Given the description of an element on the screen output the (x, y) to click on. 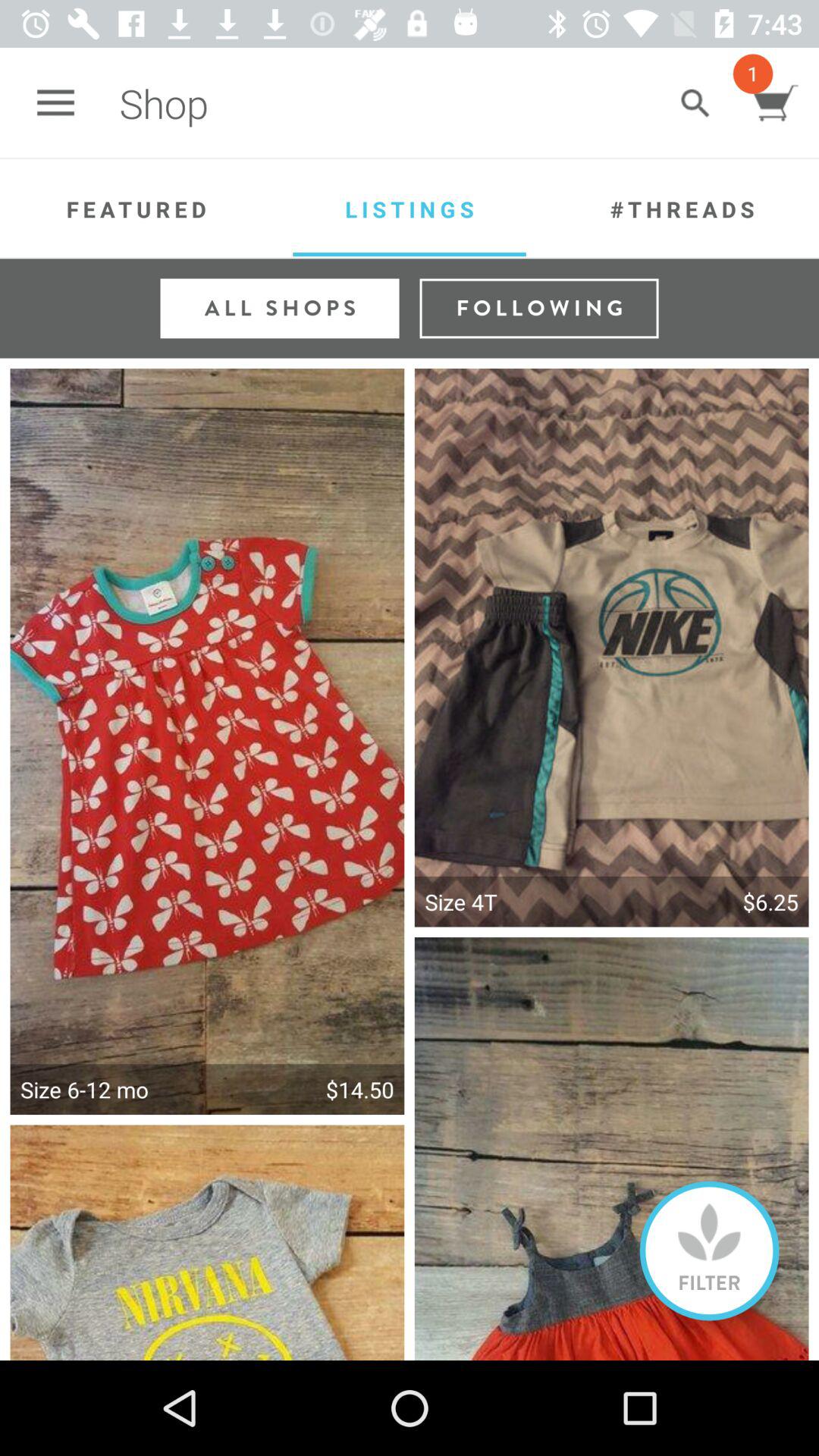
open the icon to the left of shop app (55, 103)
